Given the description of an element on the screen output the (x, y) to click on. 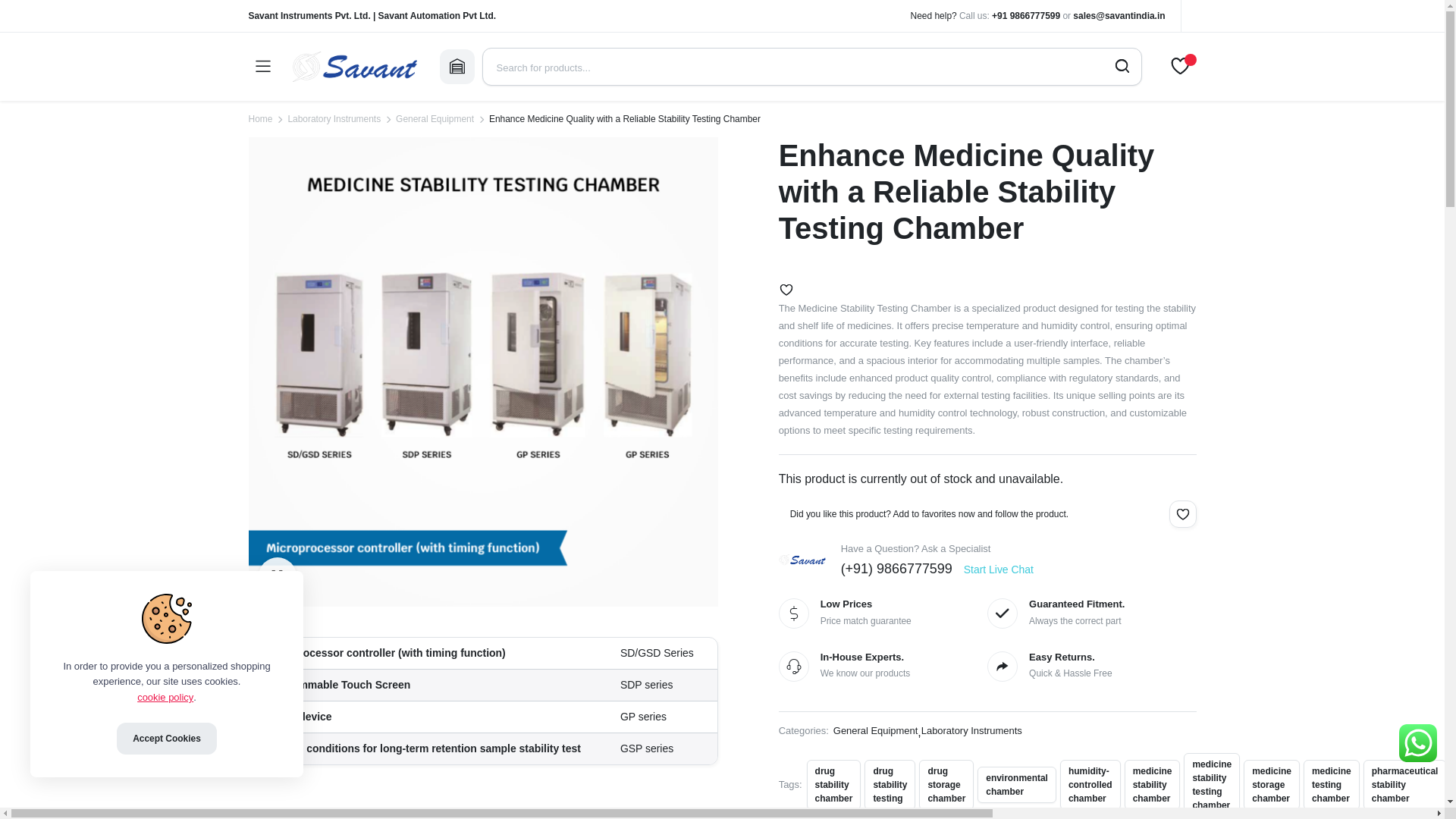
Home (260, 119)
Laboratory Instruments (333, 119)
drug stability chamber (833, 784)
Add to Wishlist (1182, 513)
medicine storage chamber (1271, 784)
environmental chamber (1016, 784)
pharmaceutical stability chamber (1404, 784)
medicine stability chamber (1152, 784)
humidity-controlled chamber (1090, 784)
